Given the description of an element on the screen output the (x, y) to click on. 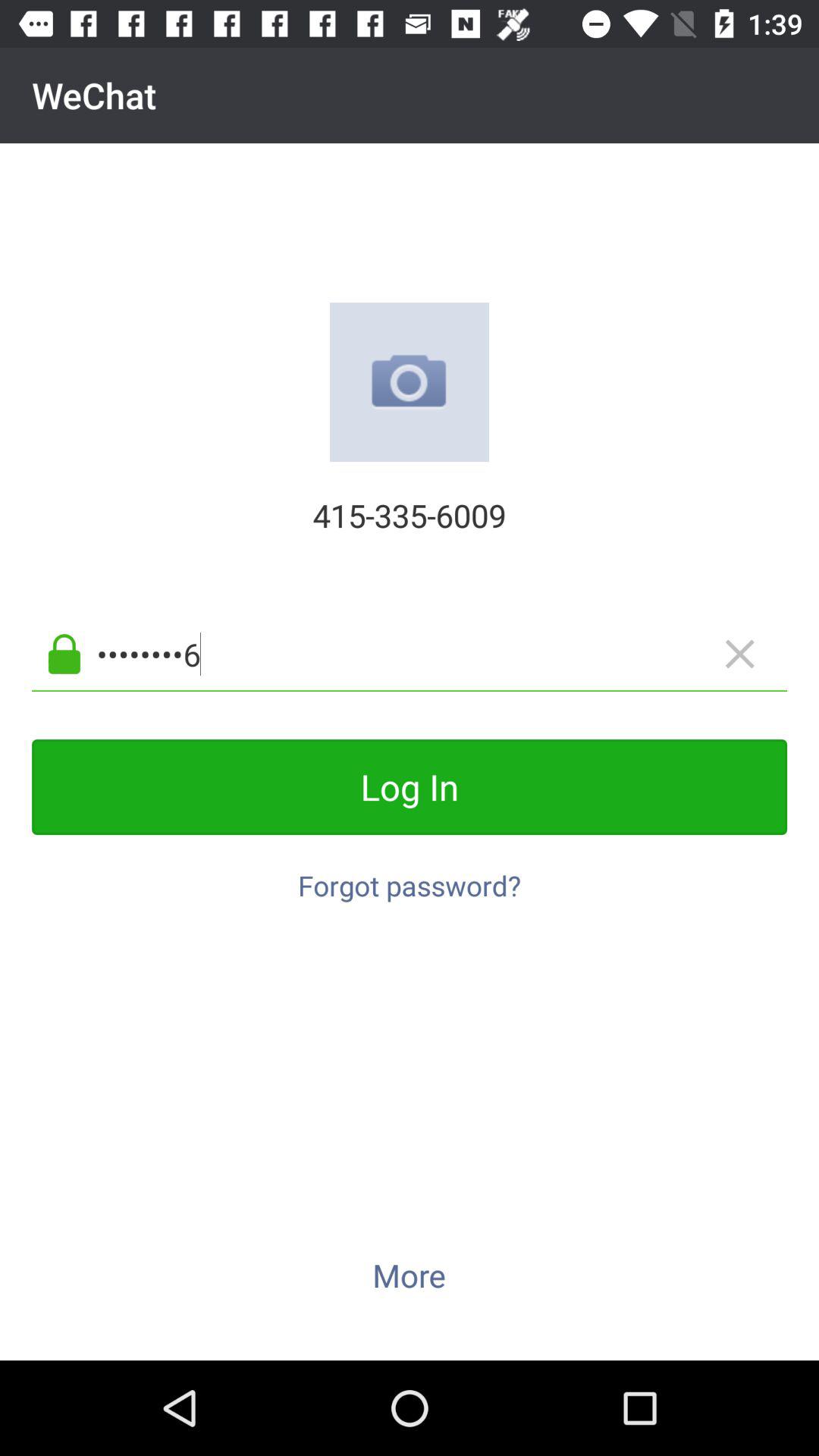
turn off the button above more icon (409, 877)
